Given the description of an element on the screen output the (x, y) to click on. 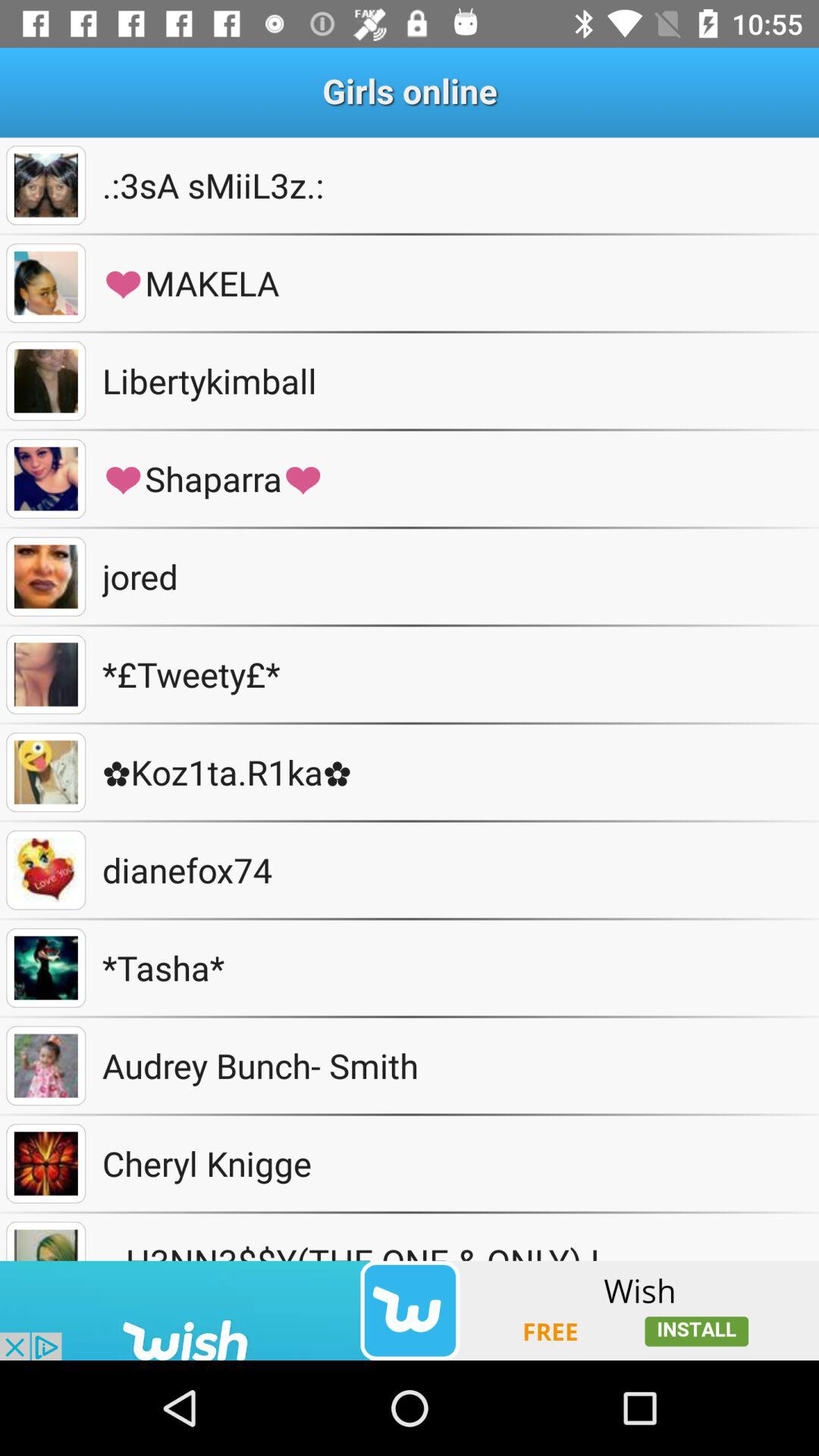
see the profile (45, 1240)
